Given the description of an element on the screen output the (x, y) to click on. 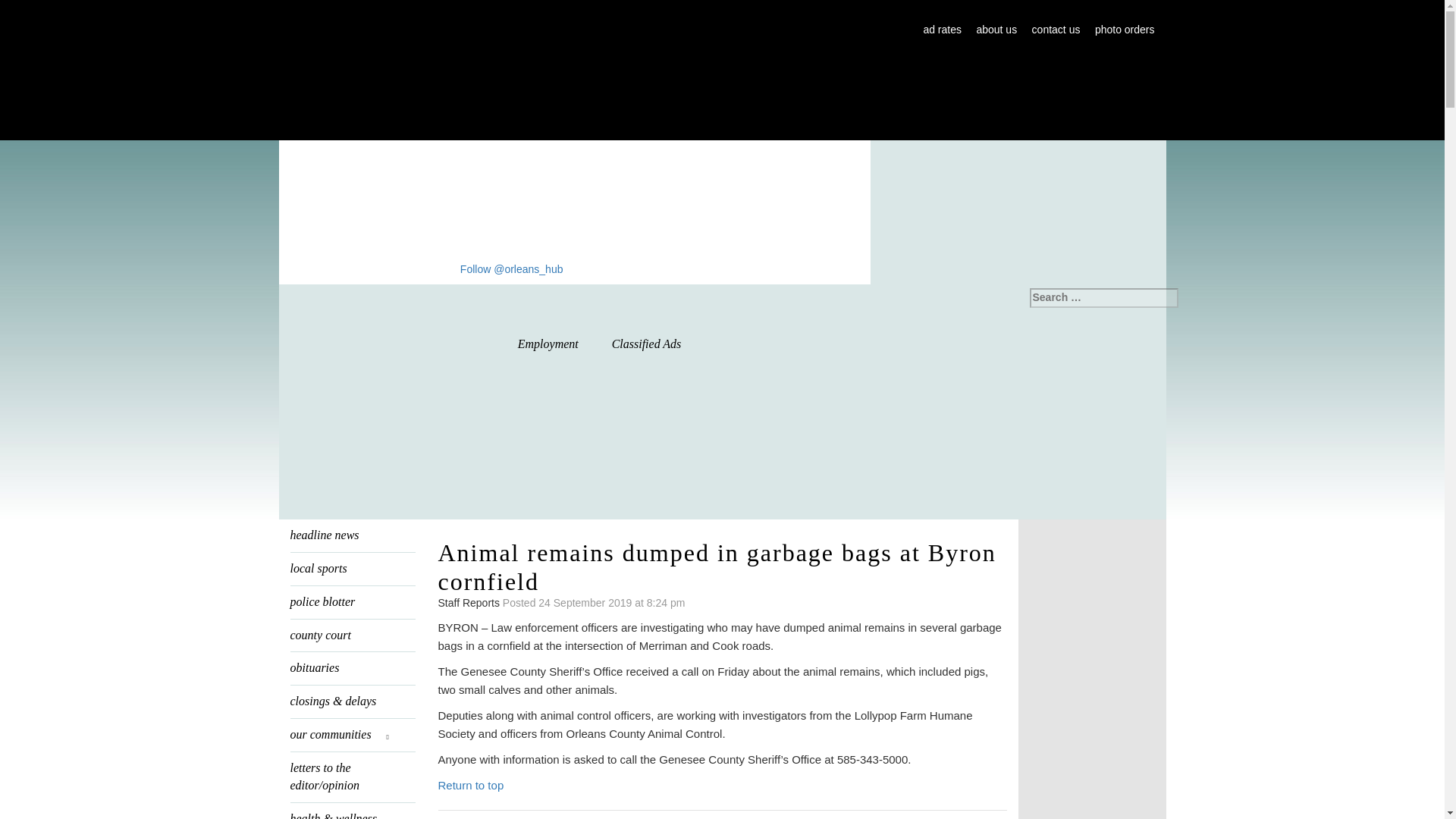
Orleans Hub Ad Rates (941, 29)
Donate (721, 458)
Community Directory (820, 345)
About Orleans Hub (995, 29)
Search (22, 9)
Orleans Hub Photo Orders (1124, 29)
ad rates (941, 29)
Classified Ads (646, 344)
police blotter (351, 602)
contact us (1056, 29)
